Given the description of an element on the screen output the (x, y) to click on. 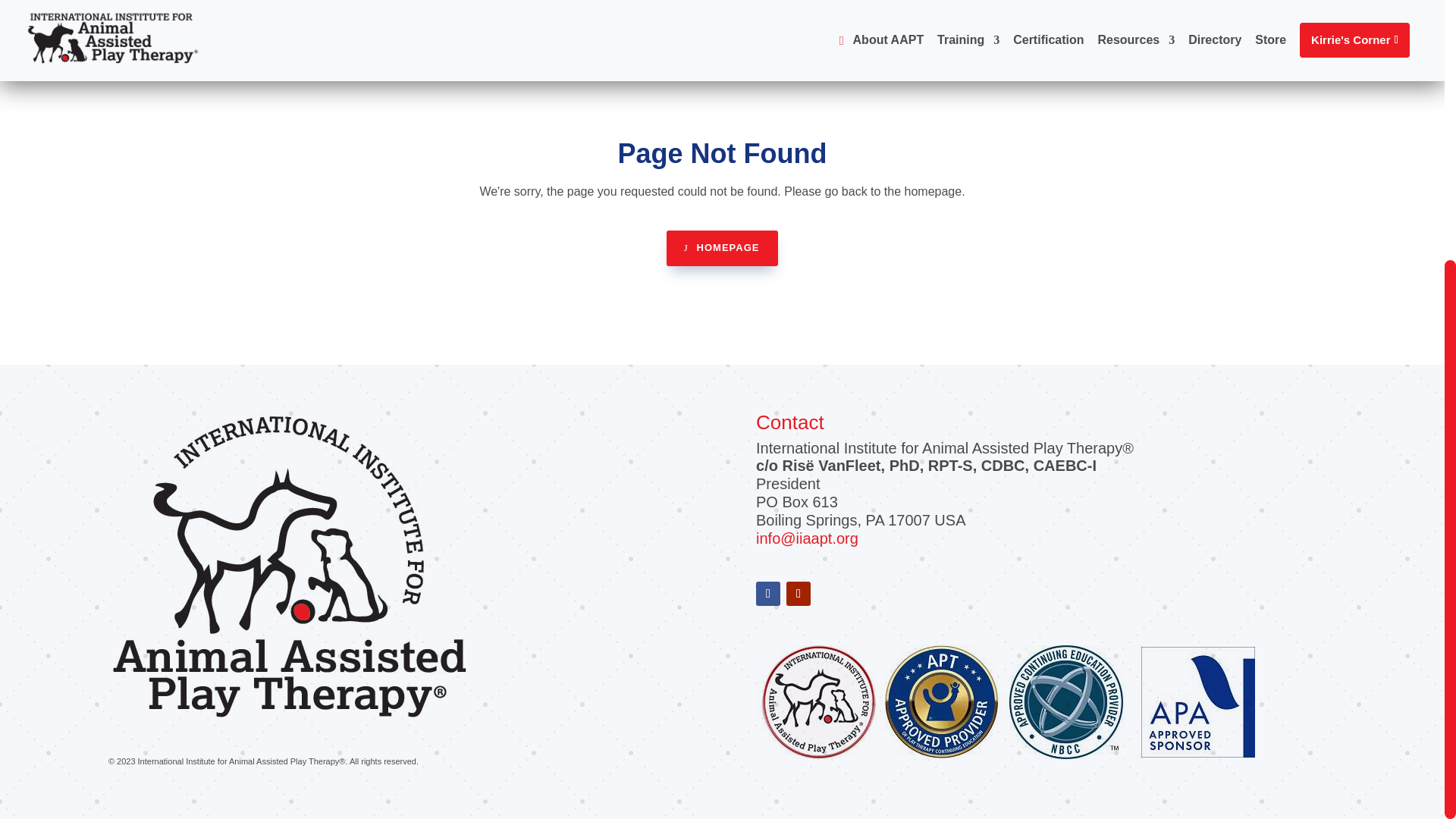
Follow on Youtube (798, 593)
HOMEPAGE (722, 247)
Follow on Facebook (767, 593)
